Given the description of an element on the screen output the (x, y) to click on. 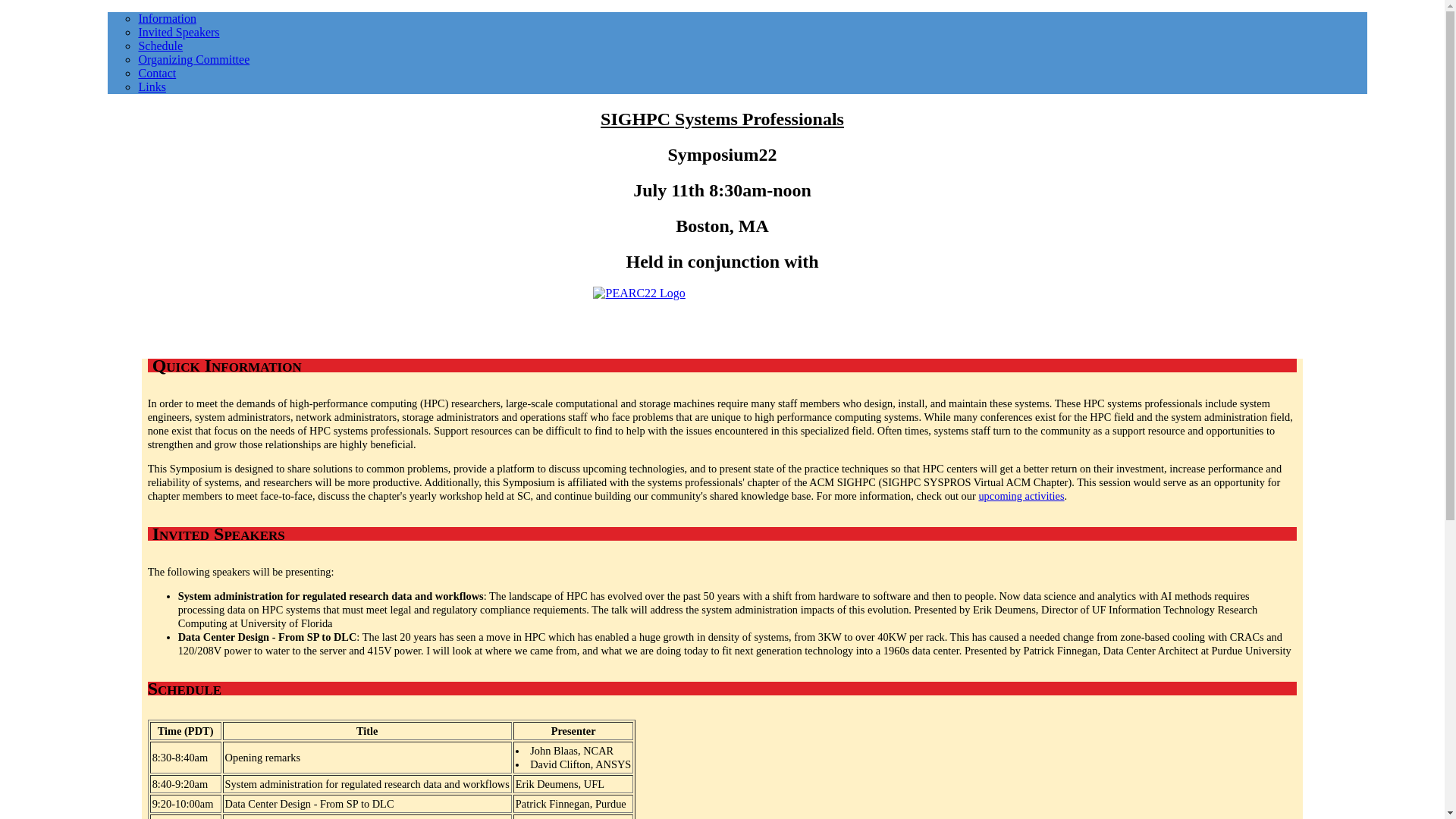
Contact (157, 72)
Schedule (160, 45)
Organizing Committee (193, 59)
SIGHPC Systems Professionals (721, 118)
Information (166, 18)
upcoming activities (1021, 495)
Links (151, 86)
Invited Speakers (178, 31)
